Given the description of an element on the screen output the (x, y) to click on. 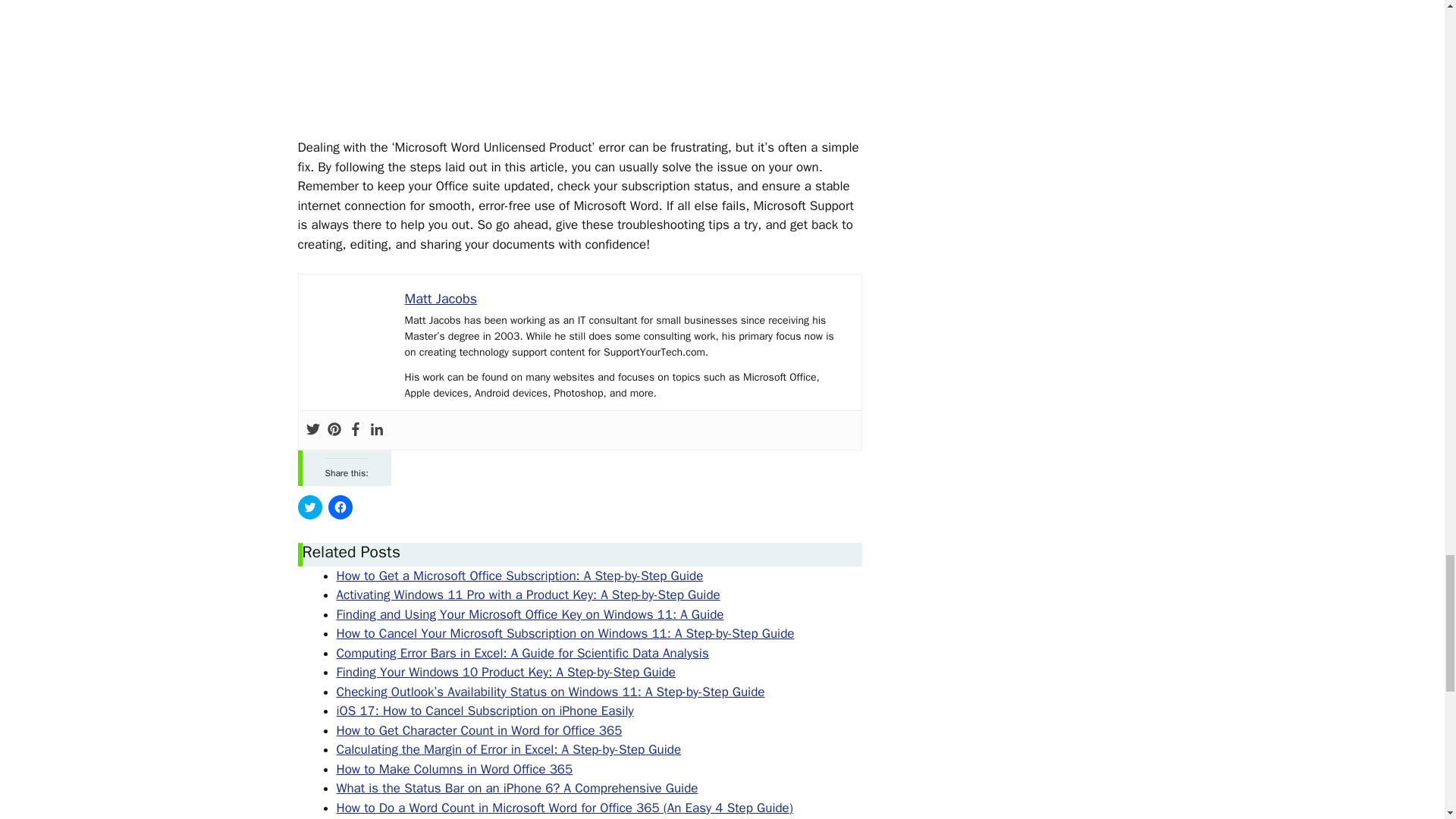
How to Make Columns in Word Office 365 (454, 769)
Matt Jacobs (440, 298)
Finding Your Windows 10 Product Key: A Step-by-Step Guide (506, 672)
iOS 17: How to Cancel Subscription on iPhone Easily (484, 710)
What is the Status Bar on an iPhone 6? A Comprehensive Guide (517, 788)
How to Get Character Count in Word for Office 365 (479, 730)
